Given the description of an element on the screen output the (x, y) to click on. 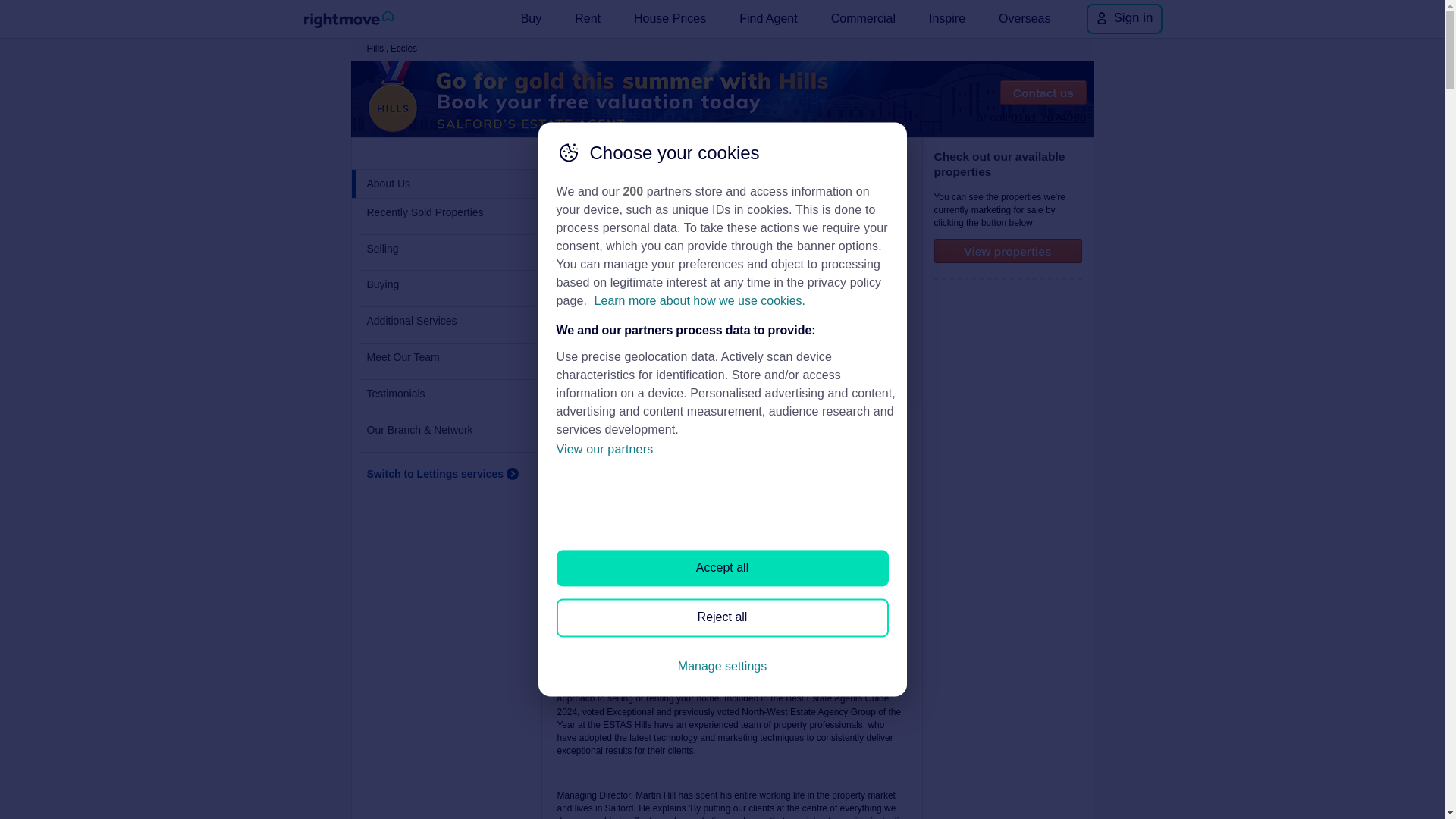
Find Agent (768, 18)
Buy (531, 18)
House Prices (669, 18)
Inspire (947, 18)
Overseas (1024, 18)
Commercial (863, 18)
Rent (588, 18)
